Given the description of an element on the screen output the (x, y) to click on. 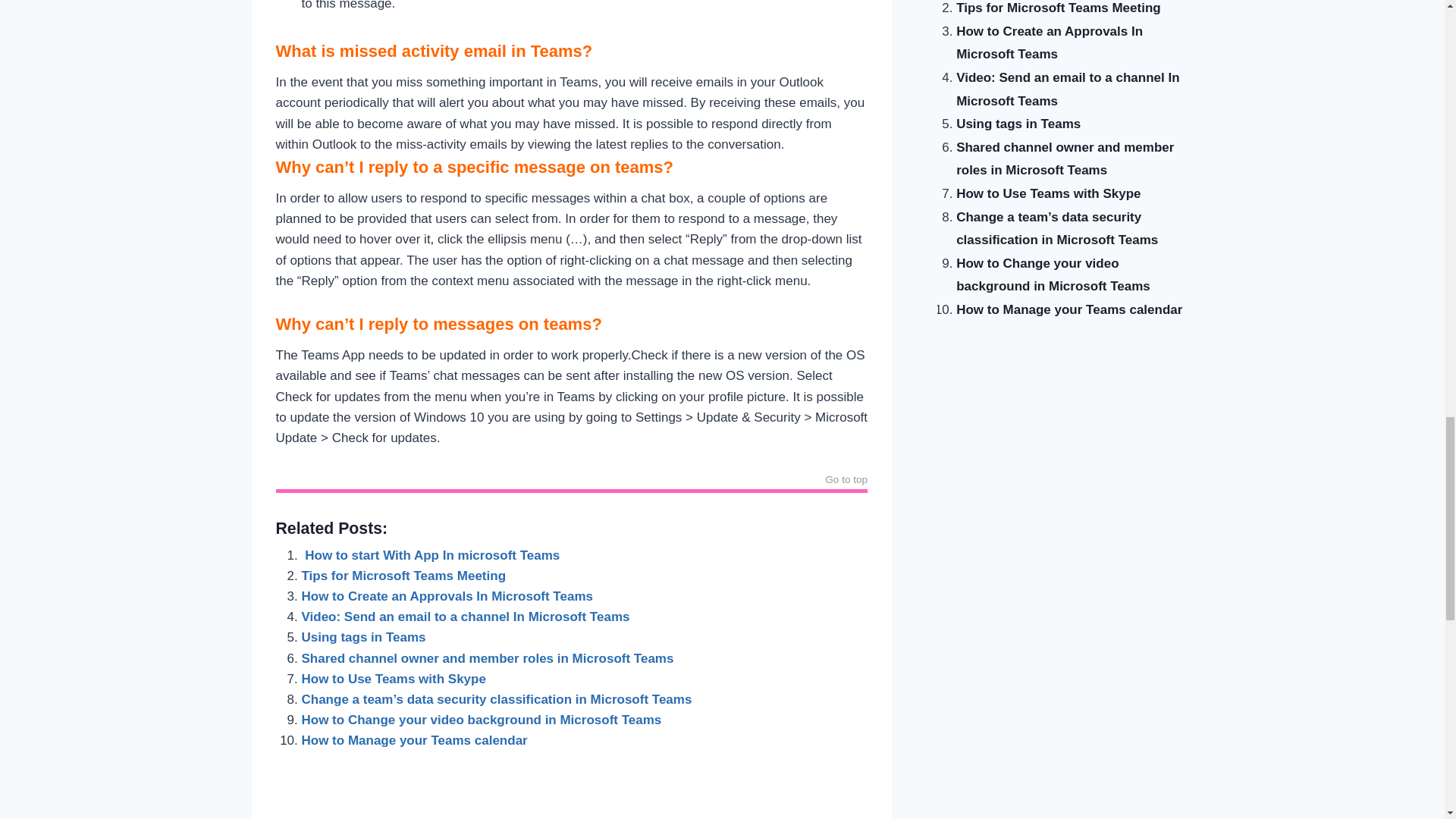
Video: Send an email to a channel In Microsoft Teams (465, 616)
How to Manage your Teams calendar (414, 740)
Using tags in Teams (363, 636)
 How to start With App In microsoft Teams (430, 554)
Shared channel owner and member roles in Microsoft Teams (487, 658)
How to Create an Approvals In Microsoft Teams (446, 595)
Using tags in Teams (363, 636)
Tips for Microsoft Teams Meeting  (405, 575)
Video: Send an email to a channel In Microsoft Teams (465, 616)
Go to top (846, 481)
How to Change your video background in Microsoft Teams (481, 719)
How to Change your video background in Microsoft Teams (481, 719)
Shared channel owner and member roles in Microsoft Teams (487, 658)
How to Manage your Teams calendar (414, 740)
